Given the description of an element on the screen output the (x, y) to click on. 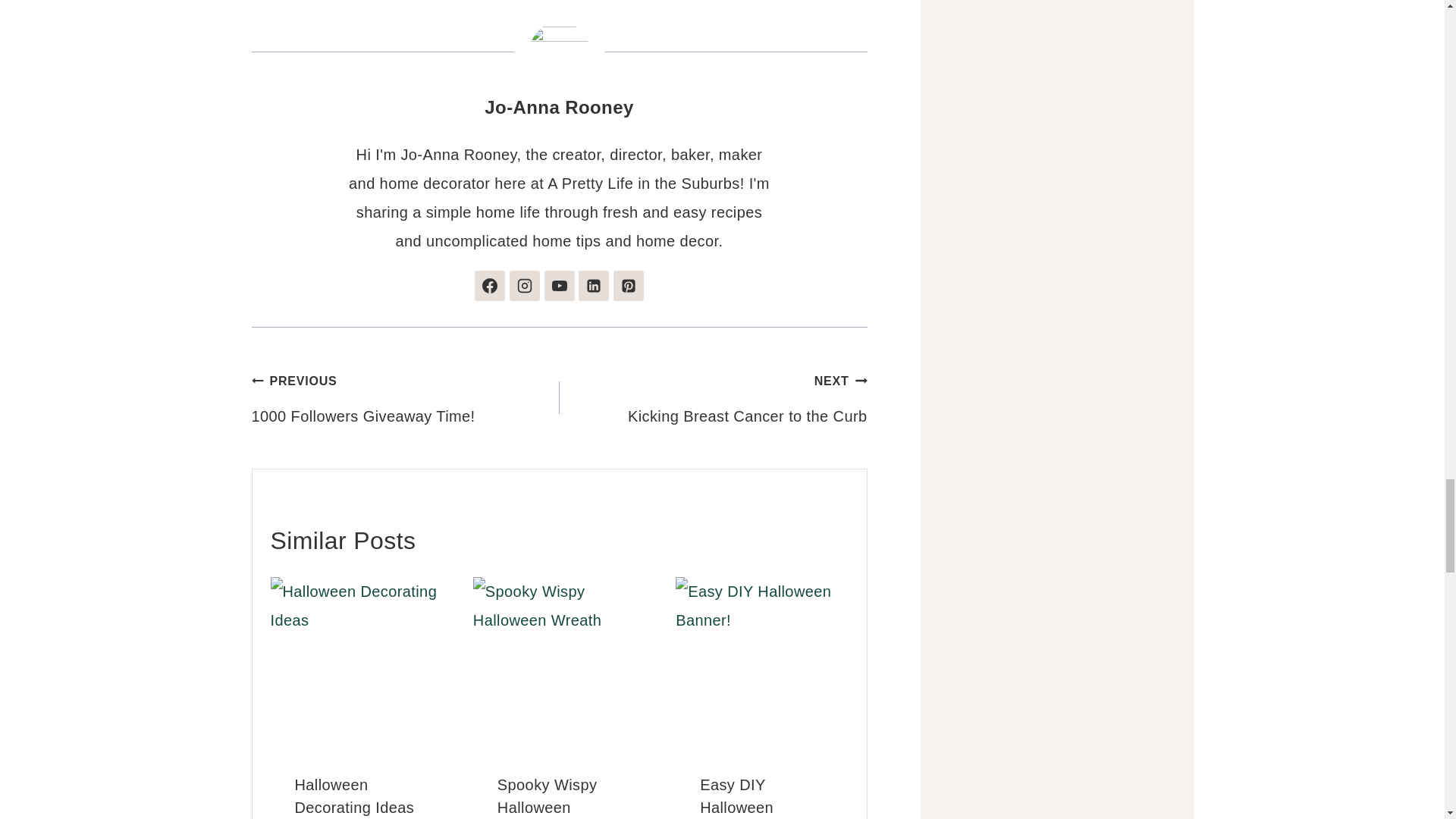
Follow Jo-Anna Rooney on Linkedin (593, 286)
Posts by Jo-Anna Rooney (558, 107)
Follow Jo-Anna Rooney on Facebook (489, 286)
Follow Jo-Anna Rooney on Instagram (524, 286)
Follow Jo-Anna Rooney on Youtube (559, 286)
